Given the description of an element on the screen output the (x, y) to click on. 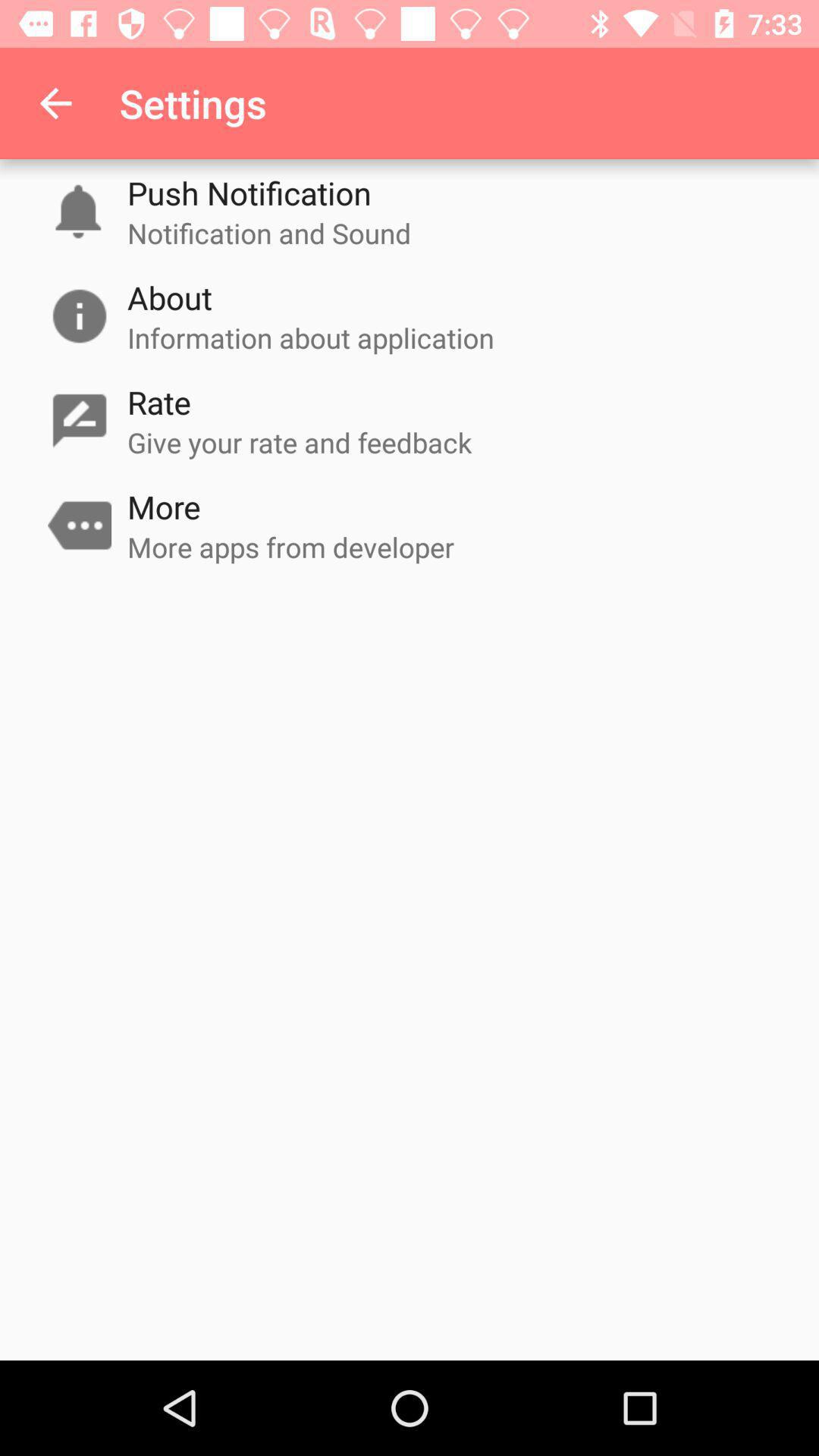
tap the item next to the settings app (55, 103)
